Given the description of an element on the screen output the (x, y) to click on. 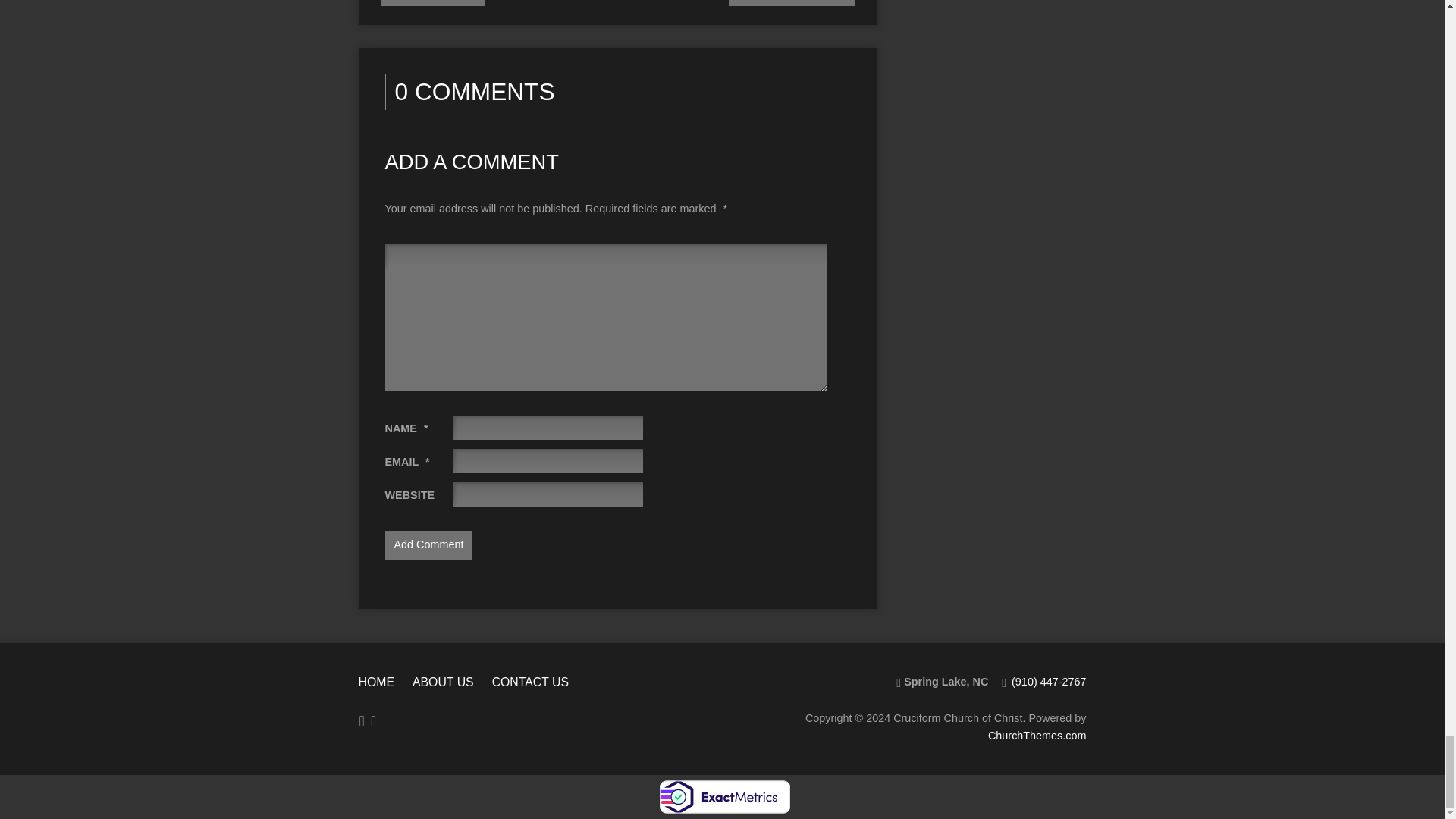
Add Comment (429, 544)
